Given the description of an element on the screen output the (x, y) to click on. 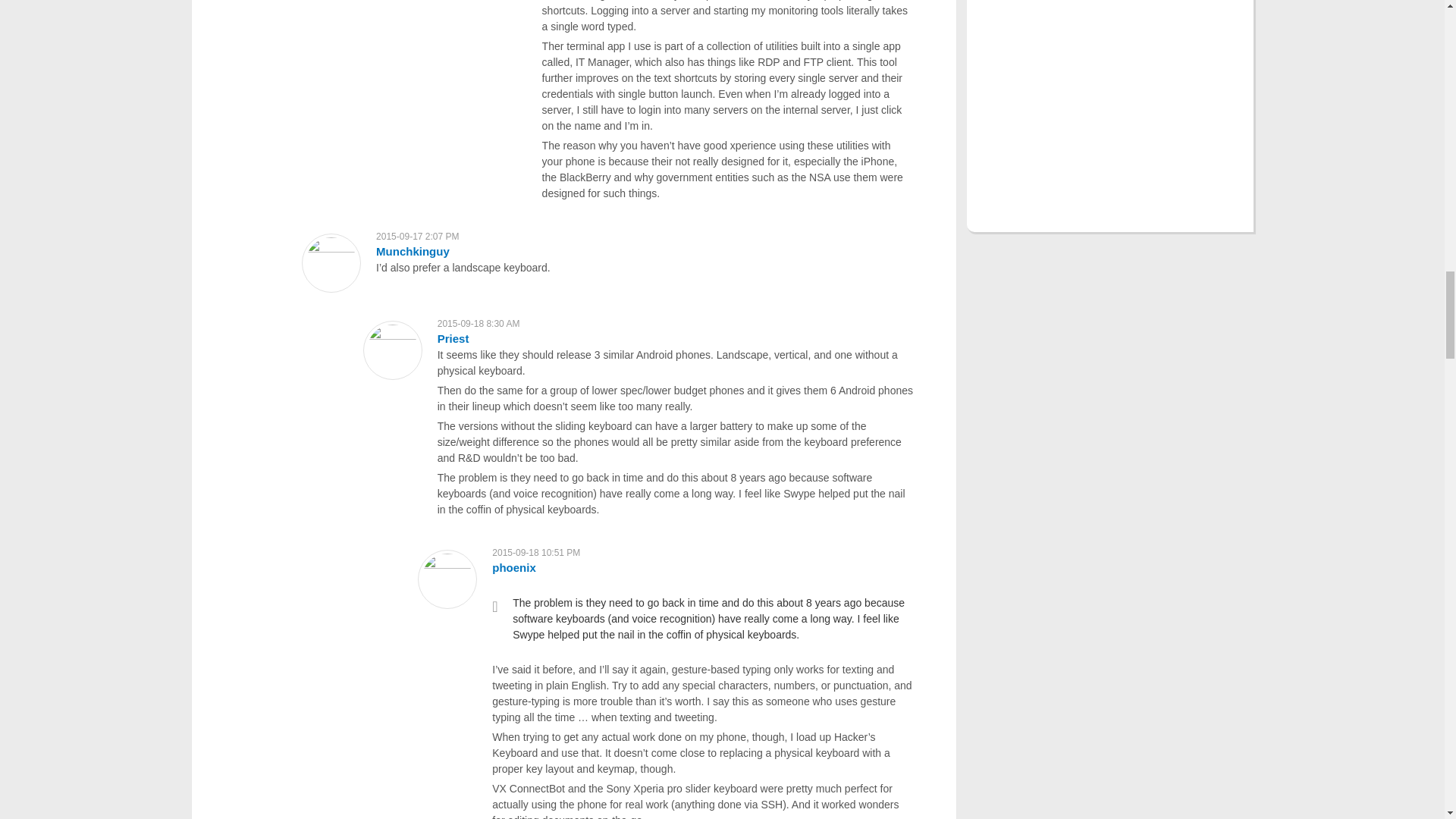
Munchkinguy (412, 250)
Priest (453, 338)
phoenix (513, 567)
